Given the description of an element on the screen output the (x, y) to click on. 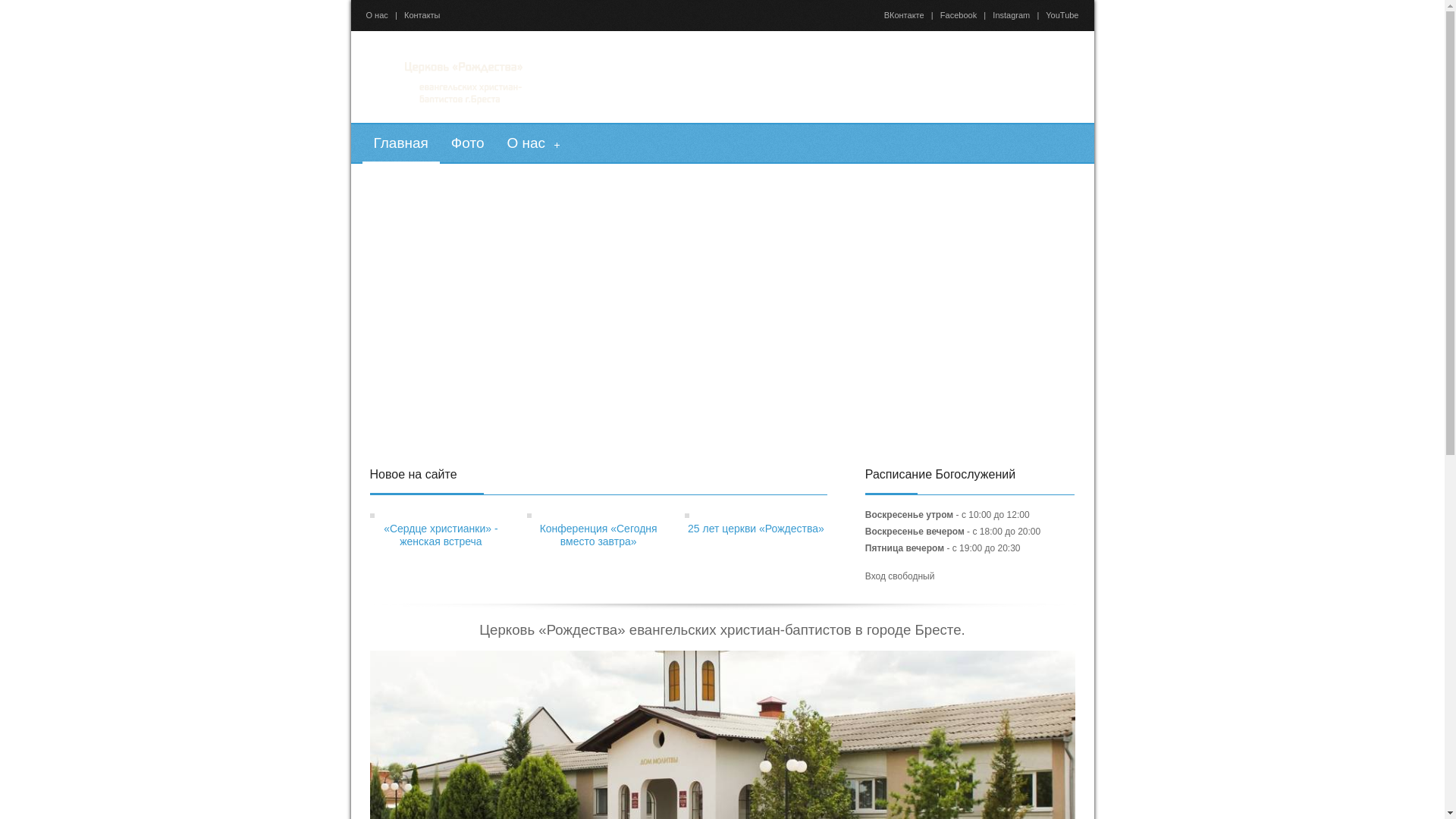
Instagram Element type: text (1010, 14)
YouTube Element type: text (1061, 14)
Facebook Element type: text (958, 14)
